Given the description of an element on the screen output the (x, y) to click on. 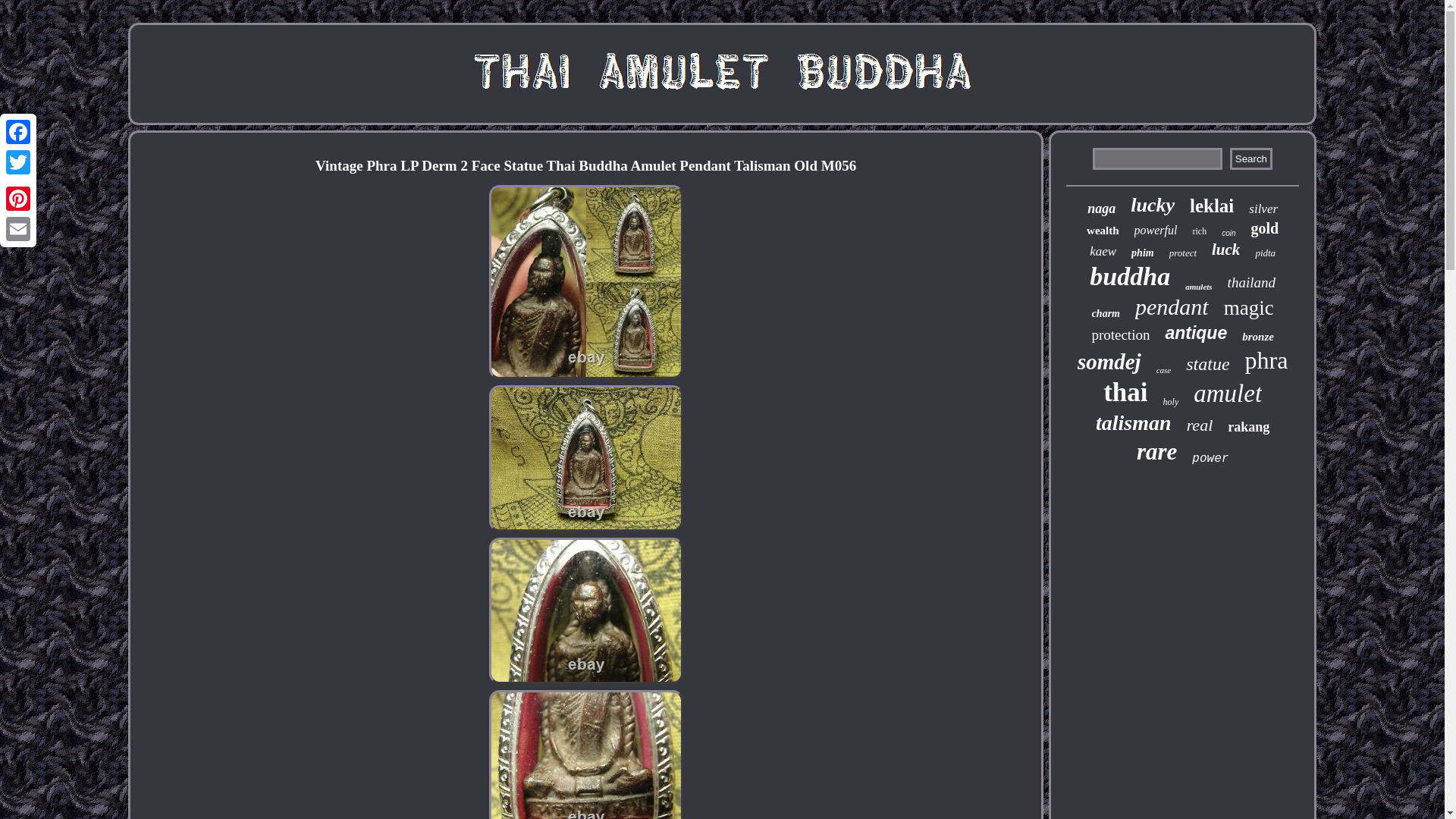
Email (17, 228)
coin (1227, 233)
phim (1142, 253)
rich (1199, 231)
lucky (1152, 205)
kaew (1102, 251)
Facebook (17, 132)
gold (1264, 228)
Search (1251, 158)
Twitter (17, 162)
